Given the description of an element on the screen output the (x, y) to click on. 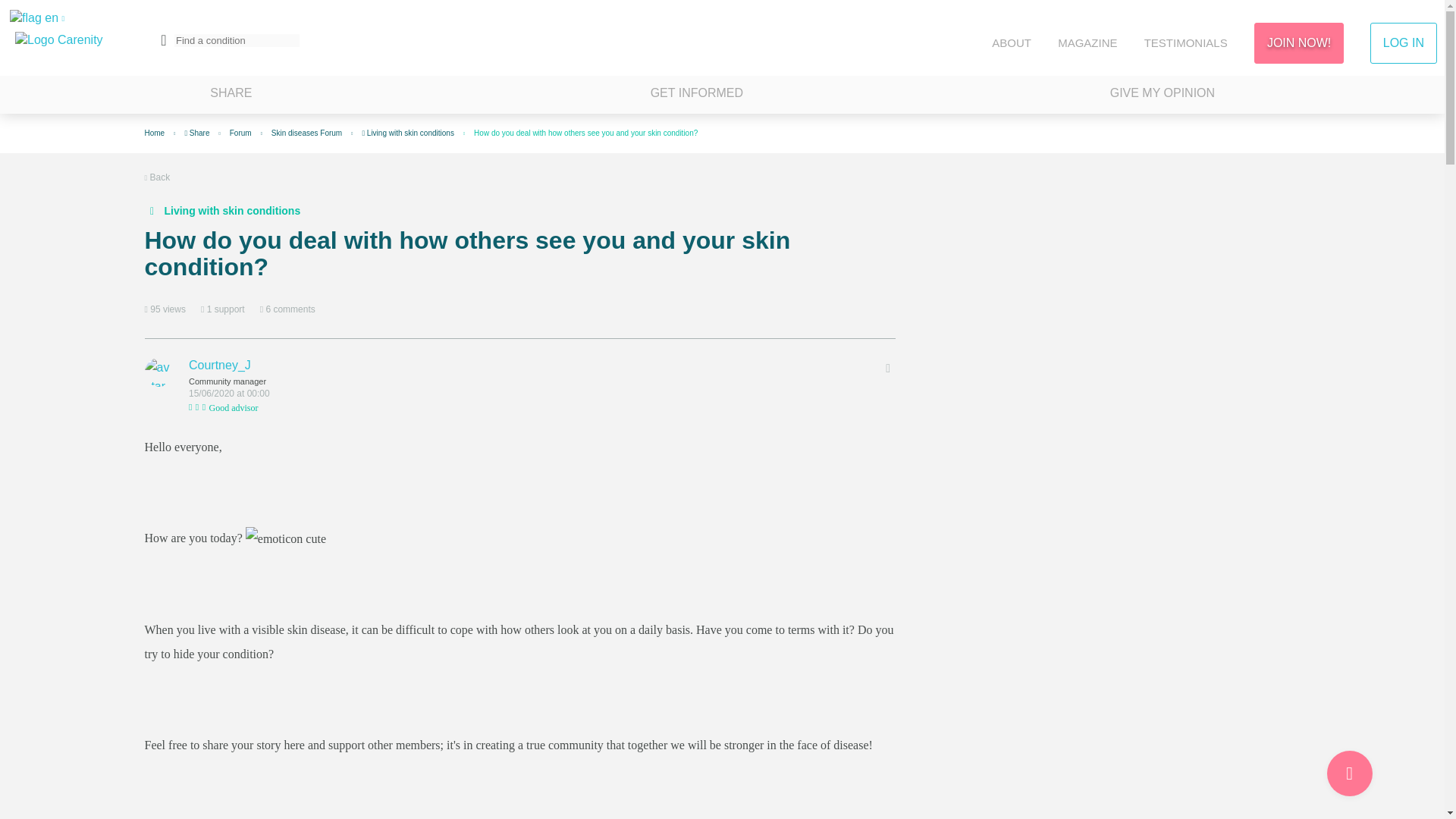
JOIN NOW! (1298, 42)
SHARE (230, 94)
Share (196, 132)
Forum (240, 132)
Living with skin conditions (407, 132)
Living with skin conditions (221, 211)
English (34, 18)
ABOUT (1010, 42)
GET INFORMED (696, 94)
GIVE MY OPINION (1161, 94)
Skin diseases Forum (306, 132)
 Back (157, 177)
MAGAZINE (1087, 42)
LOG IN (1403, 42)
Home (154, 132)
